Given the description of an element on the screen output the (x, y) to click on. 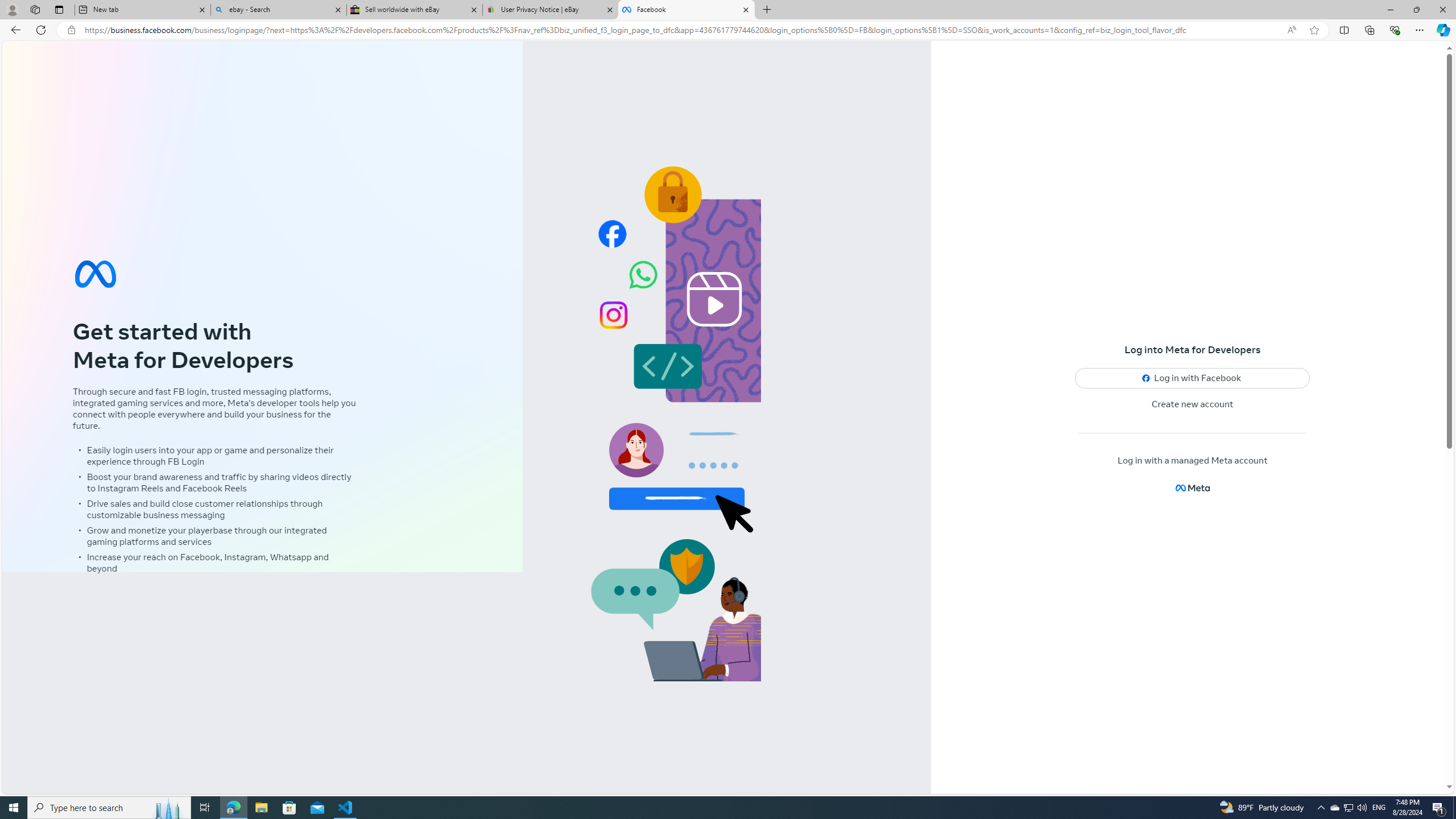
App bar (728, 29)
Address and search bar (680, 29)
Log in with a managed Meta account (1192, 460)
Meta logo (1191, 488)
User Privacy Notice | eBay (550, 9)
Create new account (1192, 404)
